Given the description of an element on the screen output the (x, y) to click on. 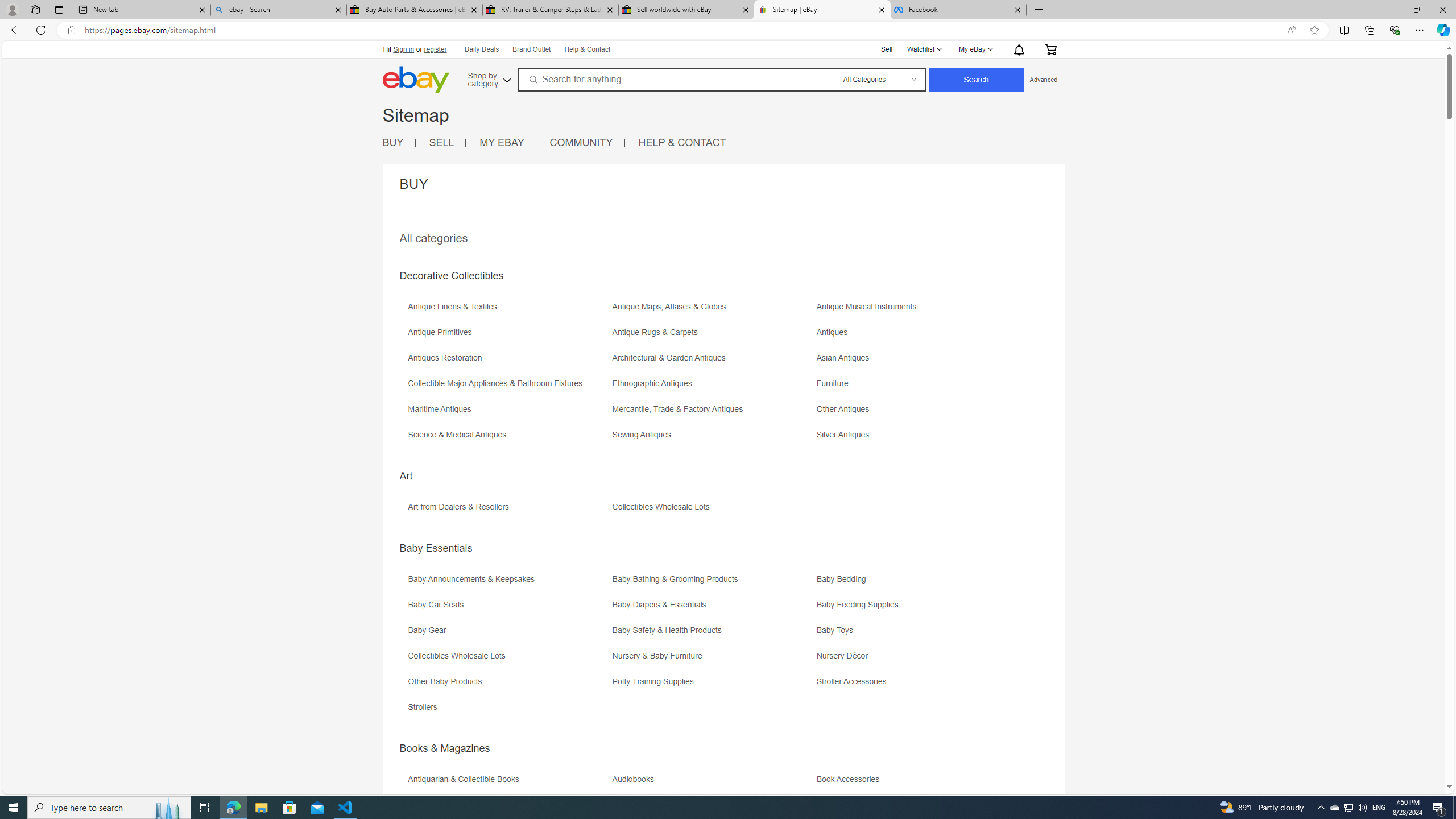
Baby Feeding Supplies (860, 604)
Silver Antiques (917, 438)
Audiobooks (712, 783)
Nursery & Baby Furniture (712, 659)
Copilot (Ctrl+Shift+.) (1442, 29)
Baby Announcements & Keepsakes (473, 579)
Facebook (957, 9)
HELP & CONTACT (681, 142)
All categories (432, 237)
Other Baby Products (508, 685)
Help & Contact (586, 49)
Refresh (40, 29)
Collections (1369, 29)
Art (405, 475)
